Given the description of an element on the screen output the (x, y) to click on. 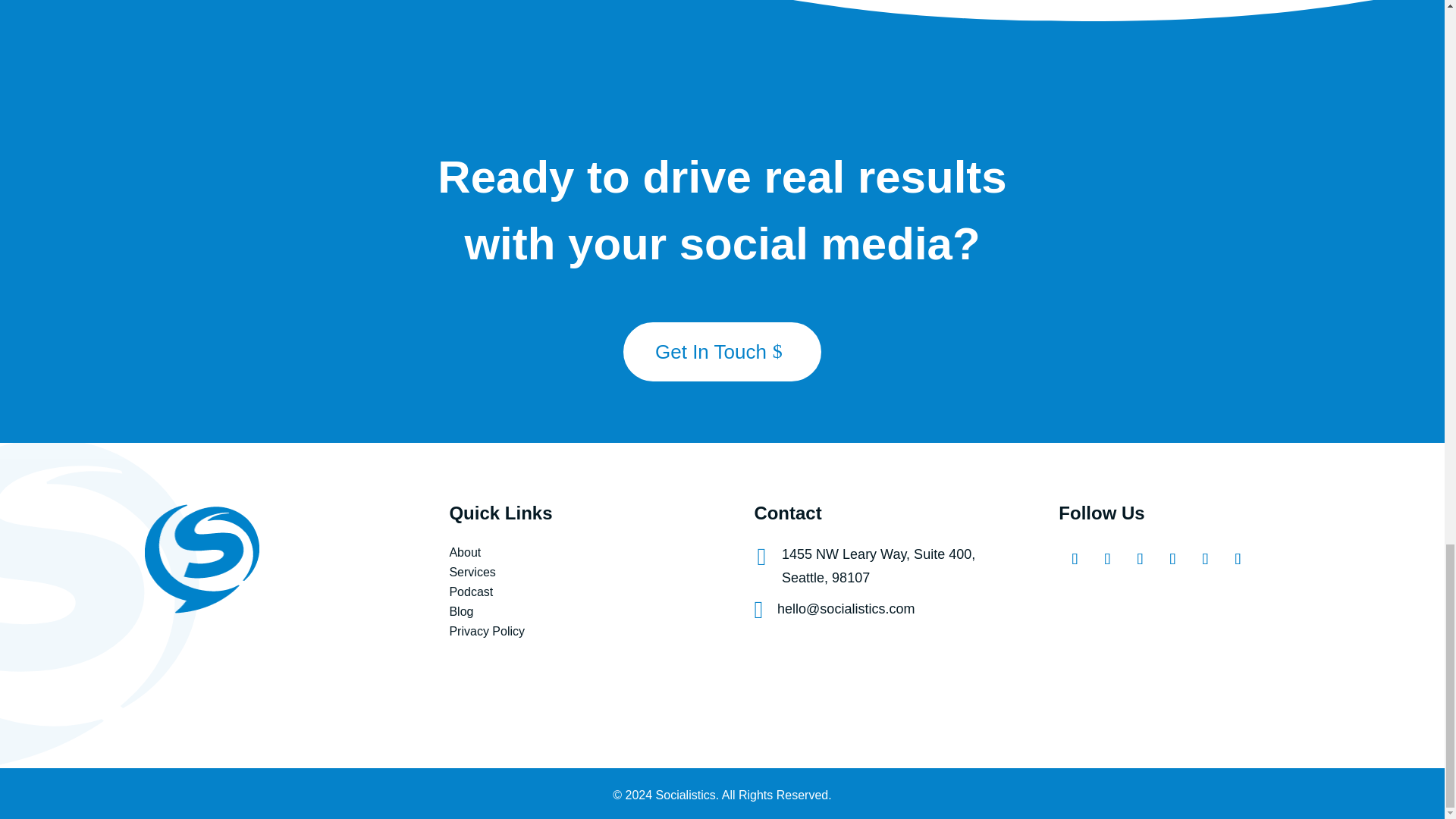
Follow on LinkedIn (1202, 555)
Follow on Facebook (1071, 555)
Follow on X (1137, 555)
Follow on Instagram (1104, 555)
dot-pattern-3 (48, 45)
Follow on Youtube (1169, 555)
dot-pattern-3 (1396, 374)
